Given the description of an element on the screen output the (x, y) to click on. 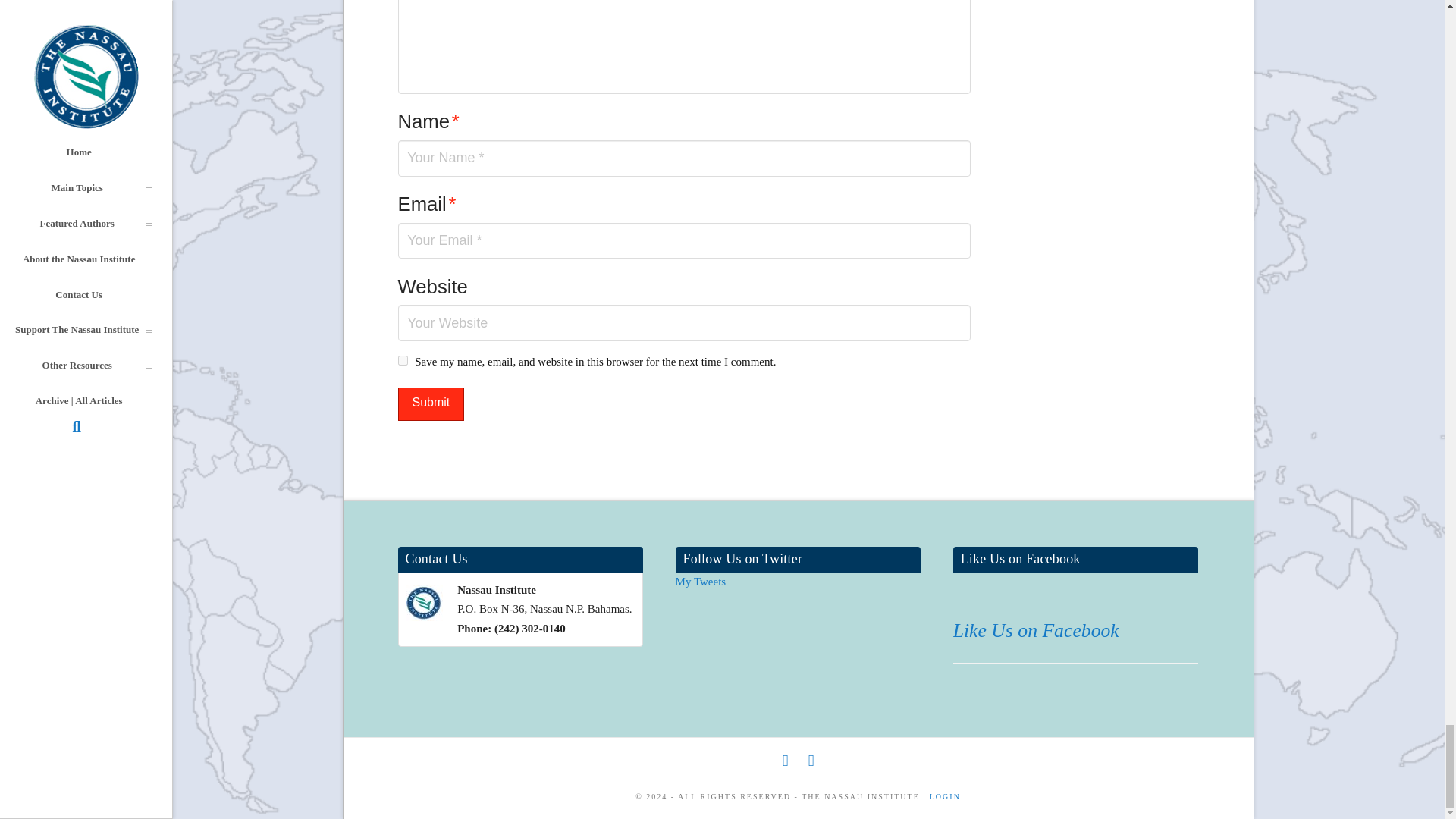
yes (402, 360)
Submit (430, 404)
